Given the description of an element on the screen output the (x, y) to click on. 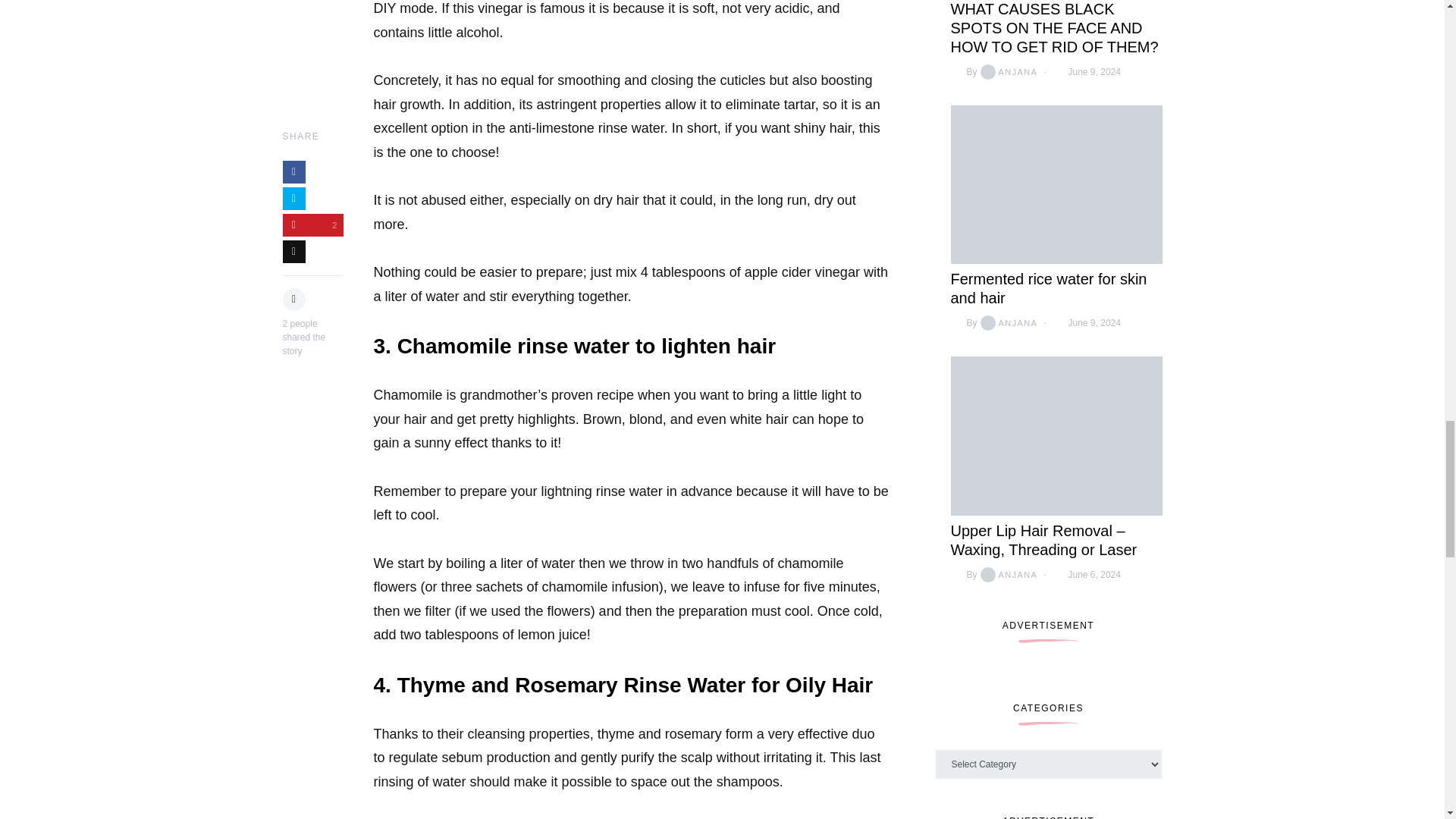
View all posts by Anjana (1007, 72)
View all posts by Anjana (1007, 574)
Fermented rice water for skin and hair (1048, 289)
View all posts by Anjana (1007, 323)
